Given the description of an element on the screen output the (x, y) to click on. 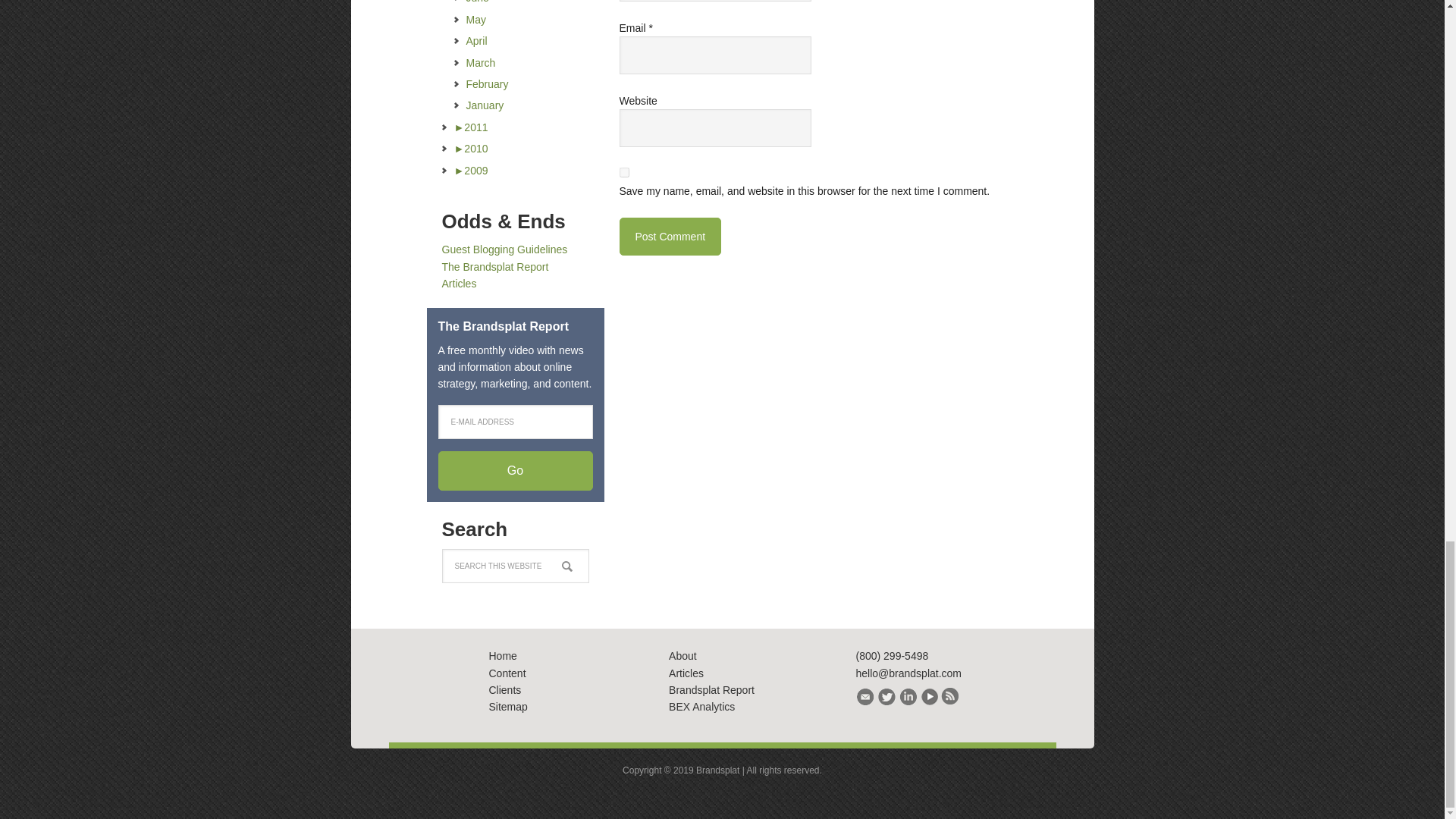
Post Comment (669, 236)
Post Comment (669, 236)
yes (623, 172)
Go (515, 470)
